Given the description of an element on the screen output the (x, y) to click on. 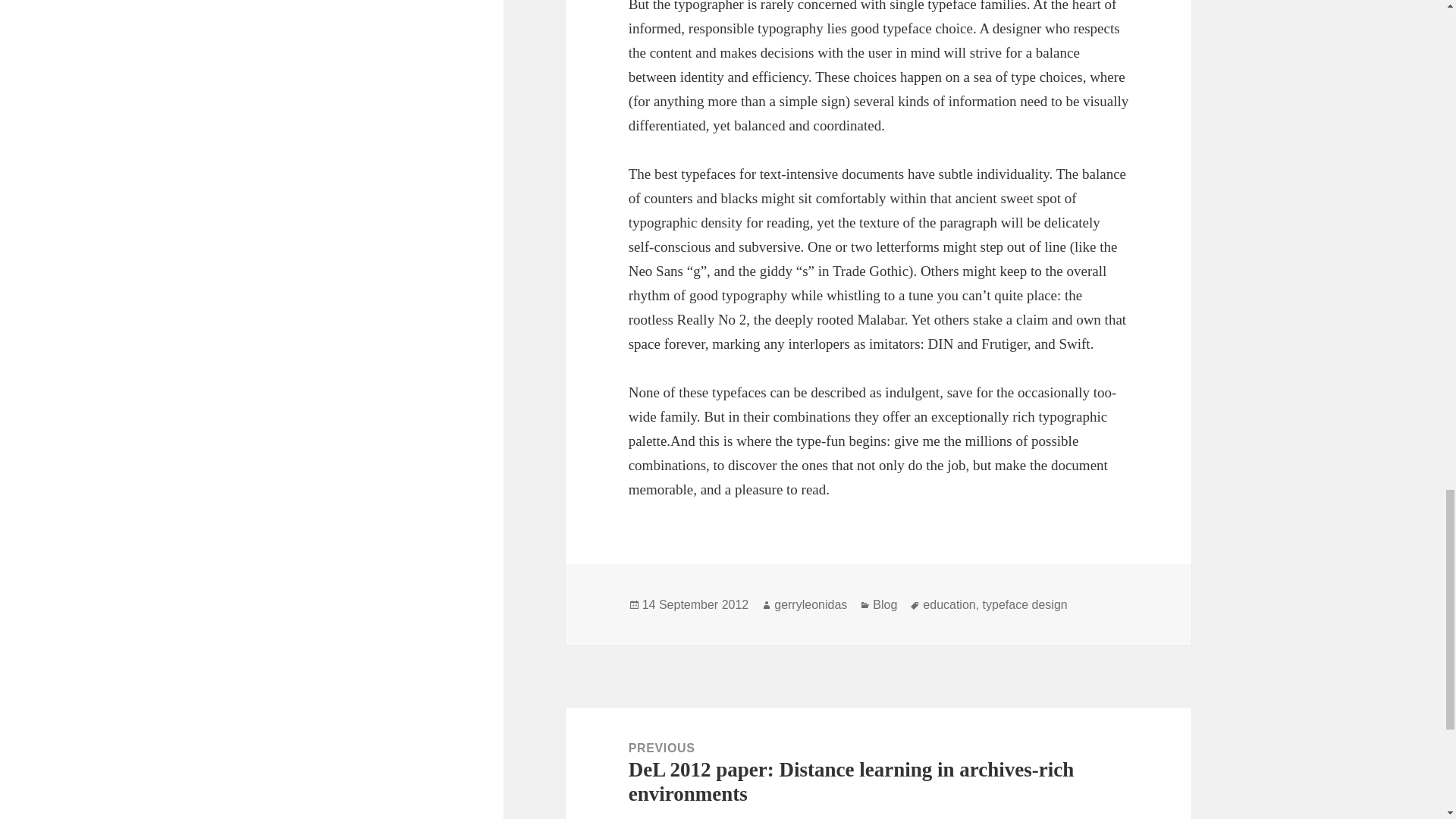
typeface design (1024, 604)
14 September 2012 (695, 604)
gerryleonidas (810, 604)
education (949, 604)
Blog (884, 604)
